Given the description of an element on the screen output the (x, y) to click on. 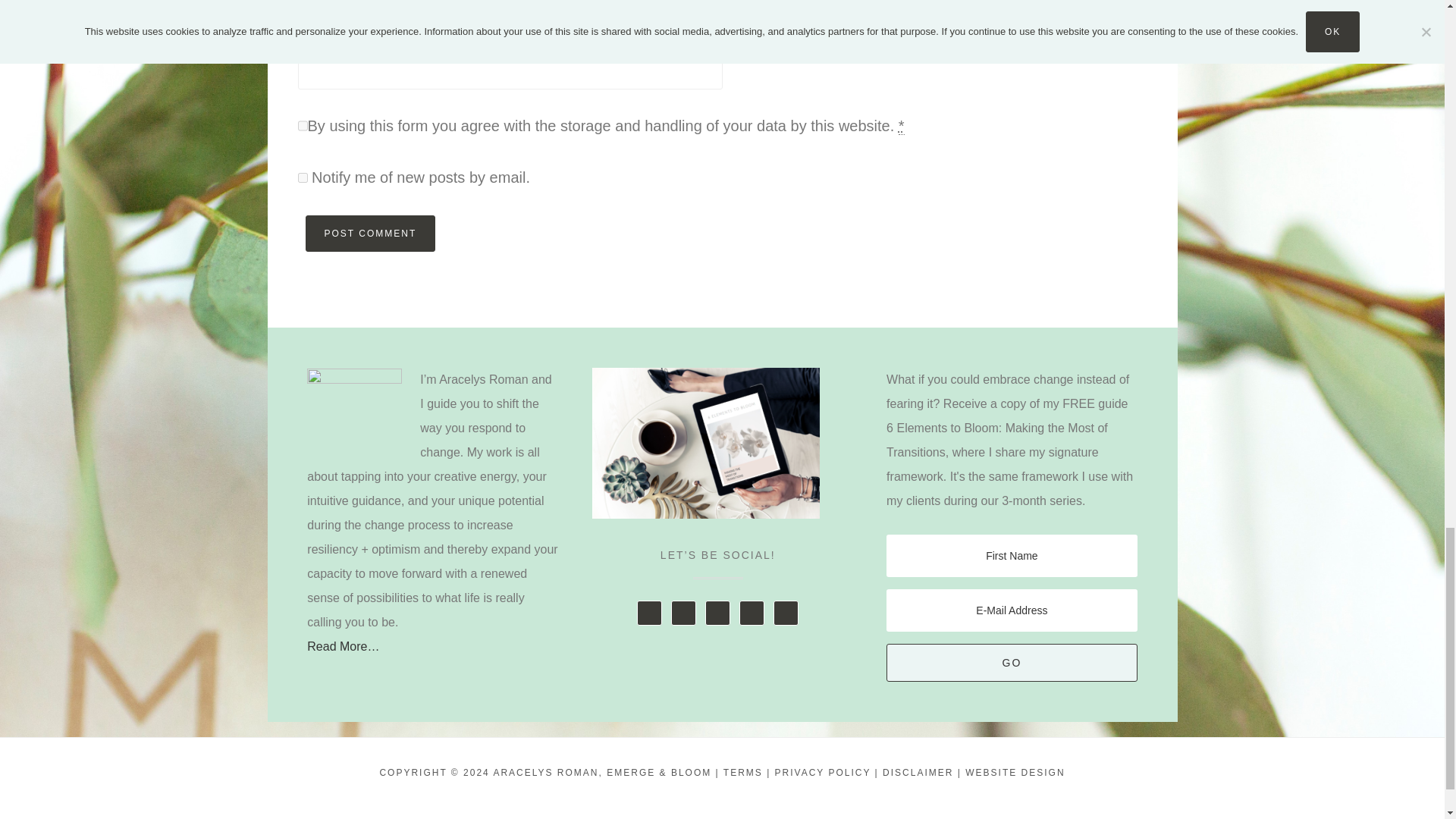
Post Comment (369, 233)
Go (1011, 662)
subscribe (302, 177)
Go (1011, 662)
WEBSITE DESIGN (1014, 772)
Post Comment (369, 233)
